Given the description of an element on the screen output the (x, y) to click on. 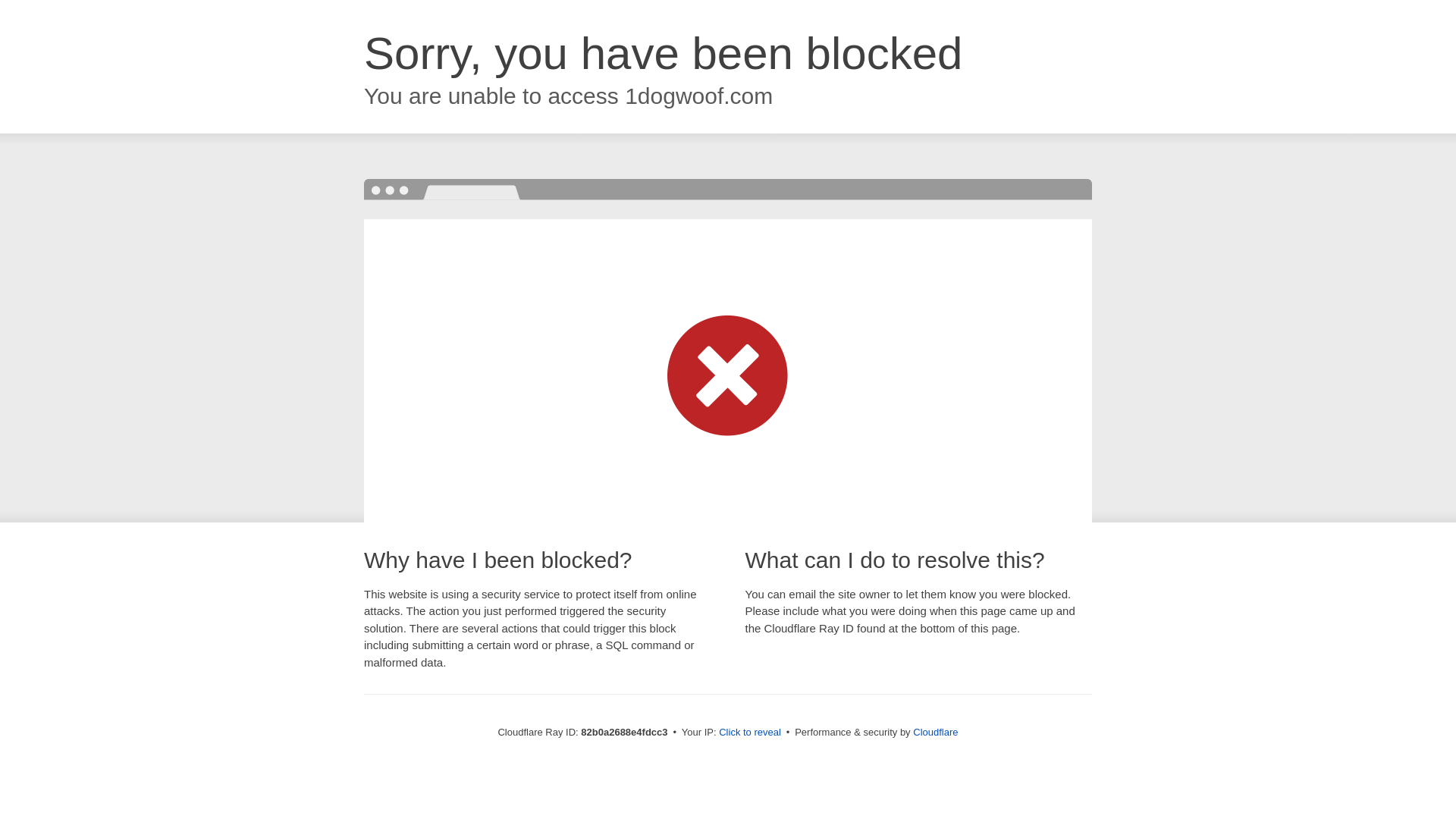
Cloudflare Element type: text (935, 731)
Click to reveal Element type: text (749, 732)
